Given the description of an element on the screen output the (x, y) to click on. 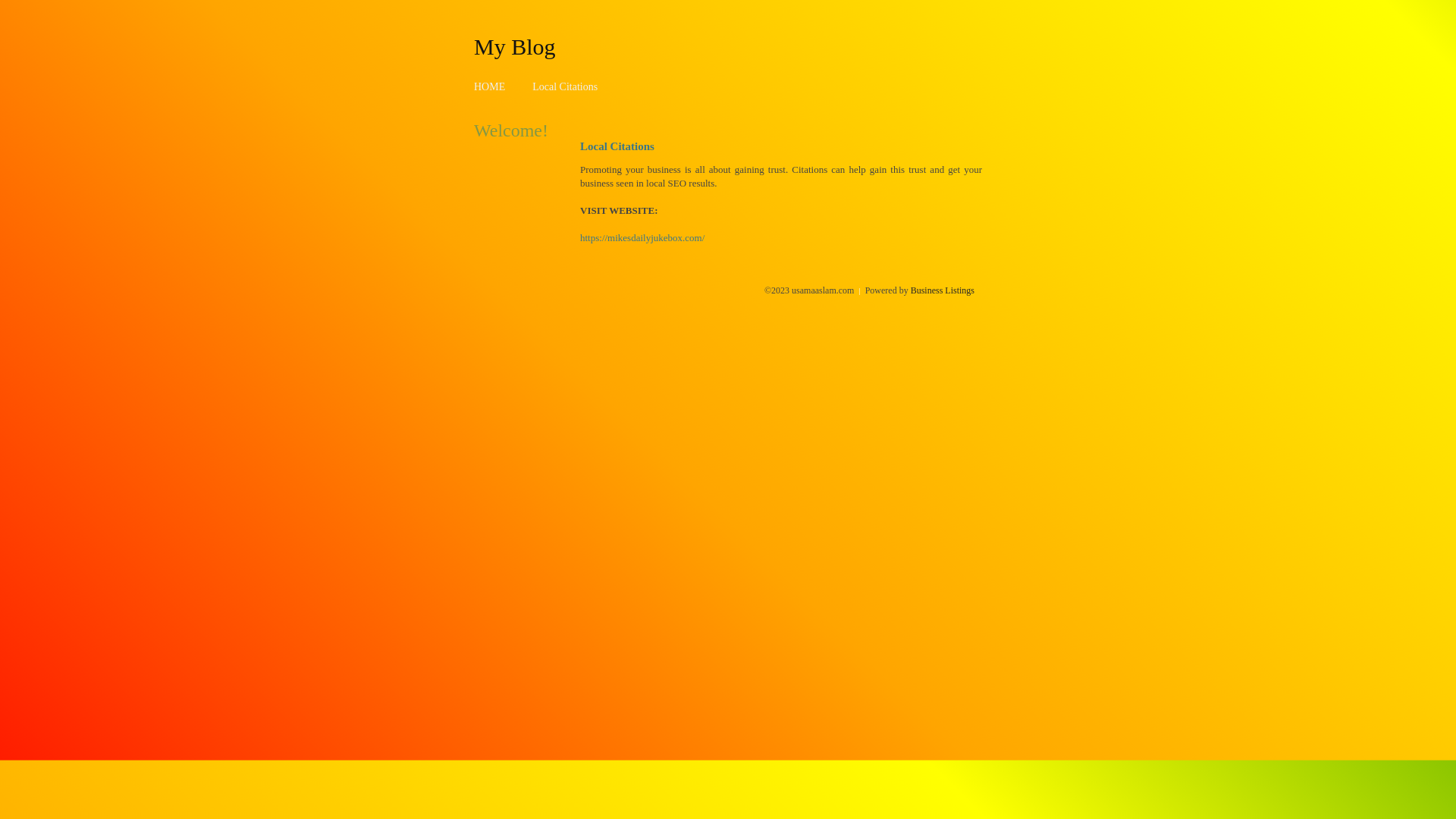
Business Listings Element type: text (942, 290)
https://mikesdailyjukebox.com/ Element type: text (642, 237)
HOME Element type: text (489, 86)
My Blog Element type: text (514, 46)
Local Citations Element type: text (564, 86)
